Given the description of an element on the screen output the (x, y) to click on. 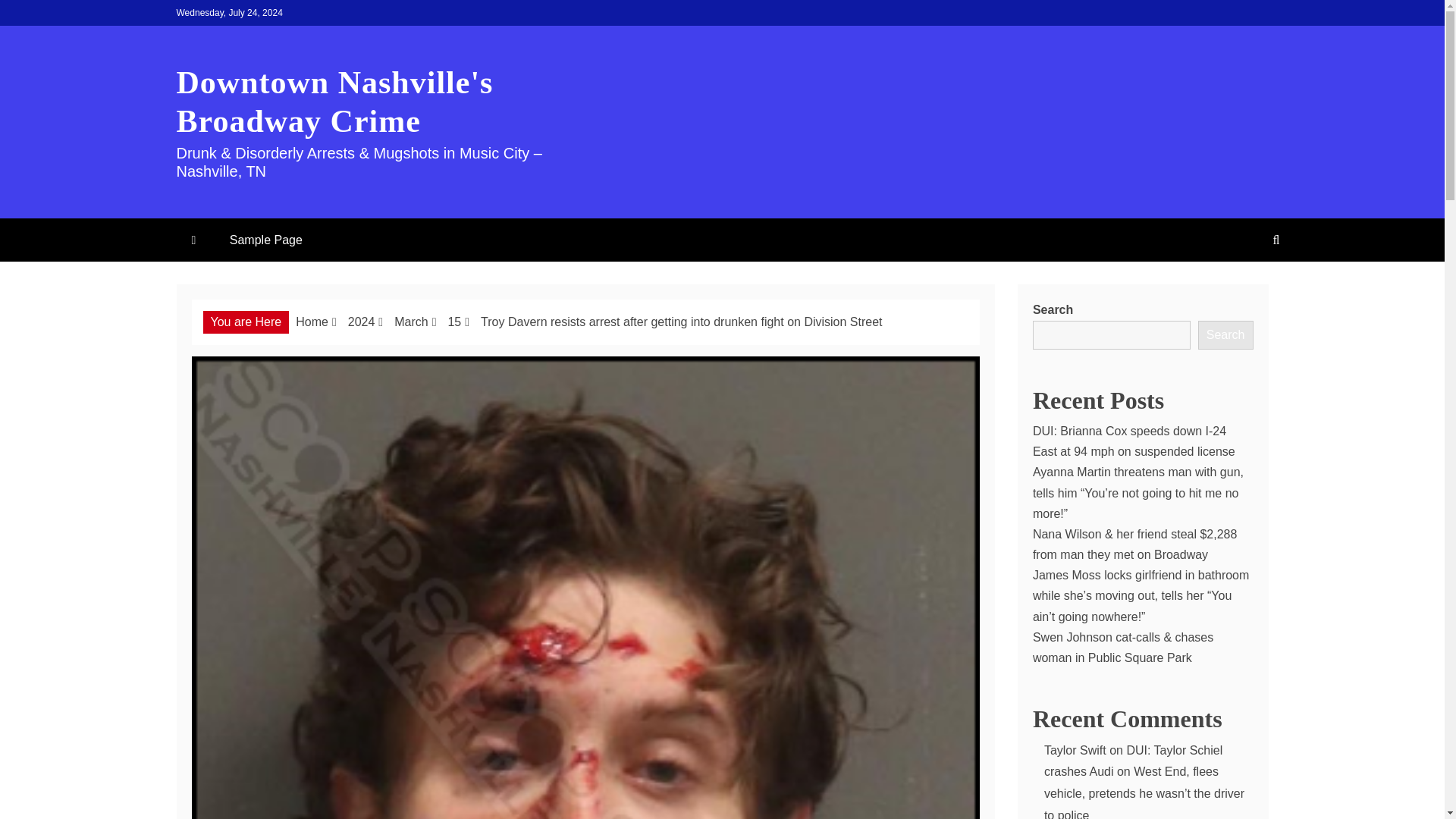
March (411, 321)
15 (453, 321)
2024 (361, 321)
Downtown Nashville's Broadway Crime (334, 101)
Home (312, 321)
Sample Page (265, 239)
